Given the description of an element on the screen output the (x, y) to click on. 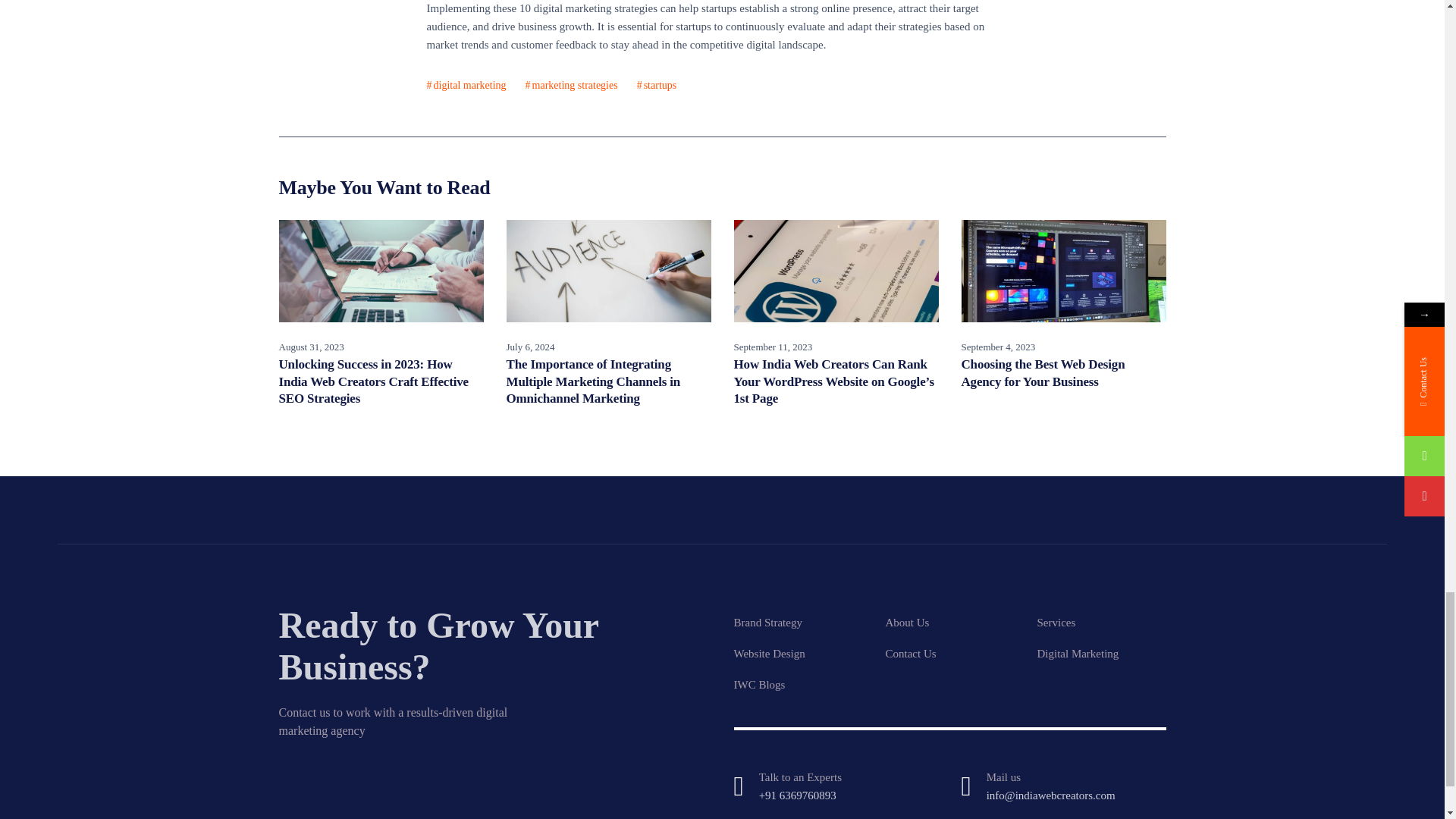
digital marketing (465, 85)
marketing strategies (571, 85)
image-1694426128 (836, 271)
image-1693468158 (381, 271)
person writing on white (608, 271)
image-1693822591 (1063, 271)
startups (657, 85)
